Given the description of an element on the screen output the (x, y) to click on. 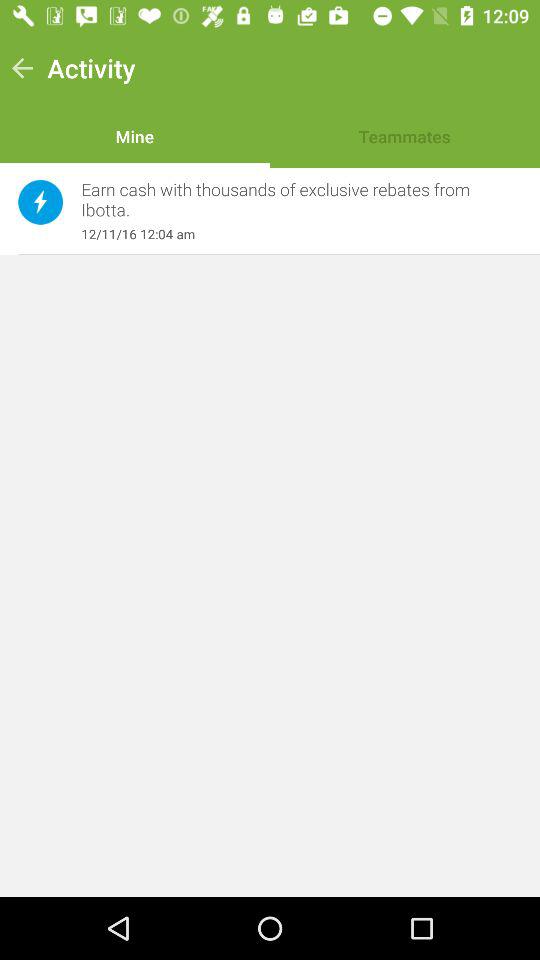
open the 12 11 16 item (291, 234)
